Given the description of an element on the screen output the (x, y) to click on. 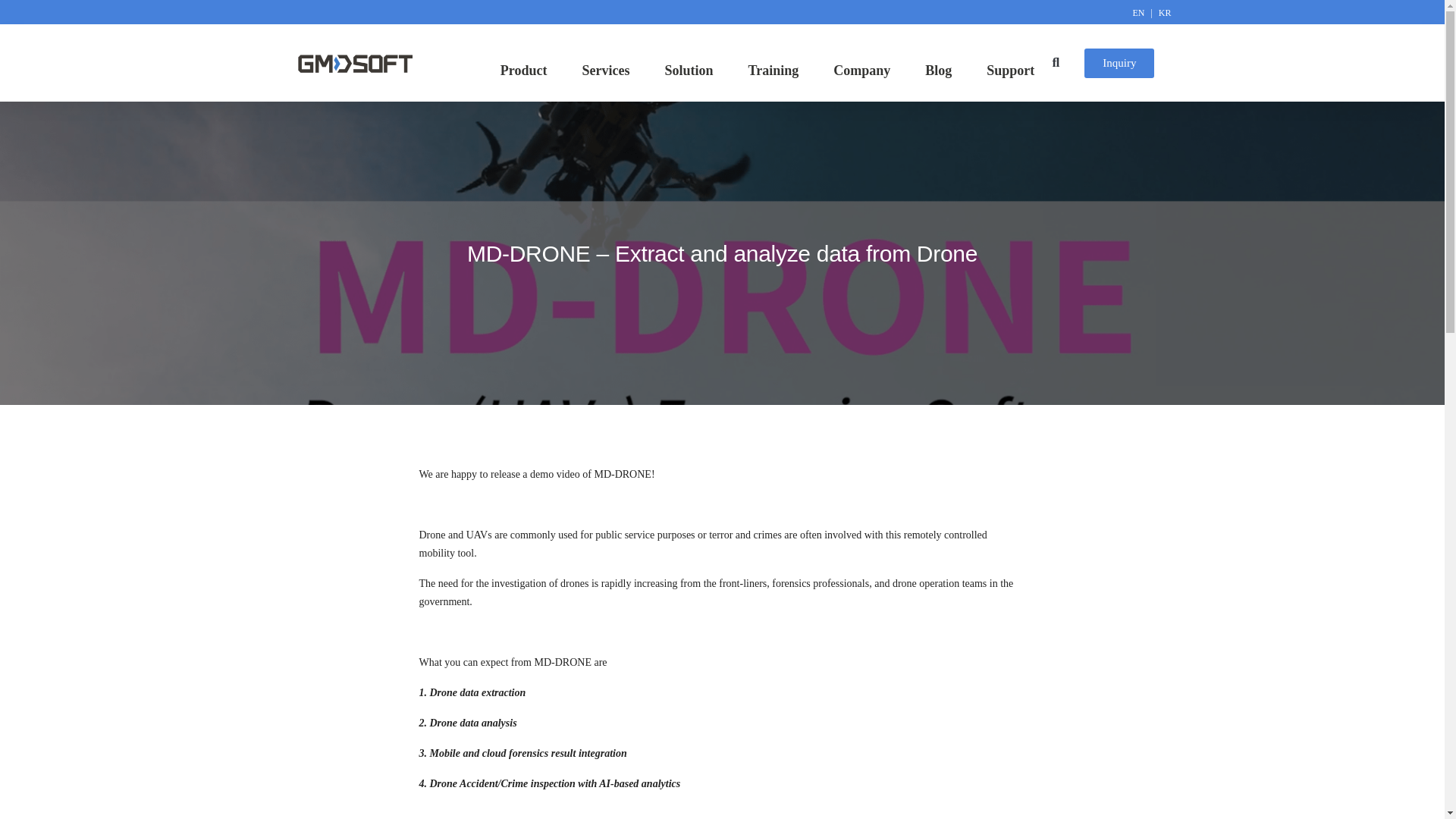
EN (1141, 12)
KR (1165, 12)
Services (609, 70)
Product (527, 70)
Solution (692, 70)
GMDSOFT-Logo-Line-1.png (354, 63)
Company (865, 70)
Training (777, 70)
